Given the description of an element on the screen output the (x, y) to click on. 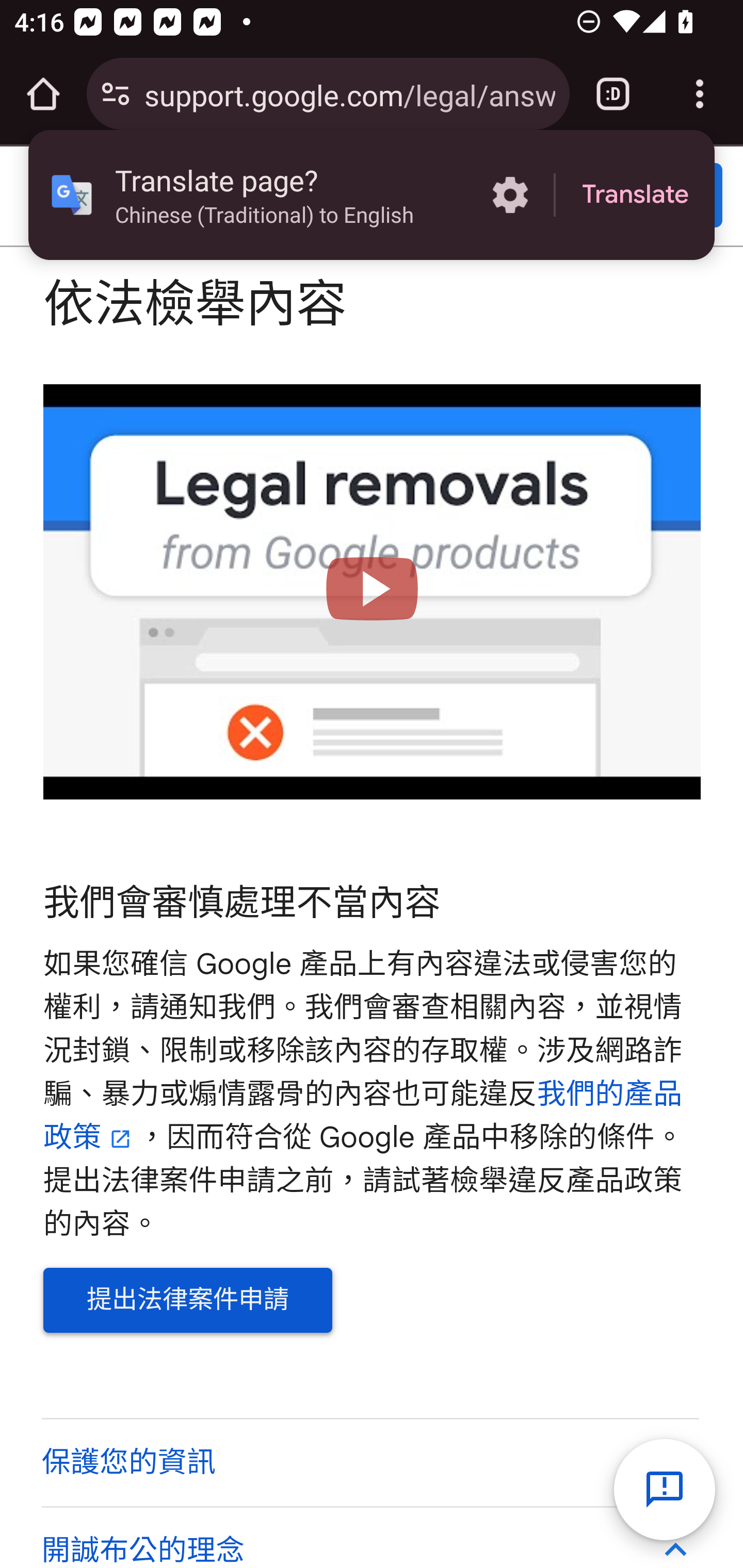
Open the home page (43, 93)
Connection is secure (115, 93)
Switch or close tabs (612, 93)
Customize and control Google Chrome (699, 93)
Translate (634, 195)
More options in the Translate page? (509, 195)
